Given the description of an element on the screen output the (x, y) to click on. 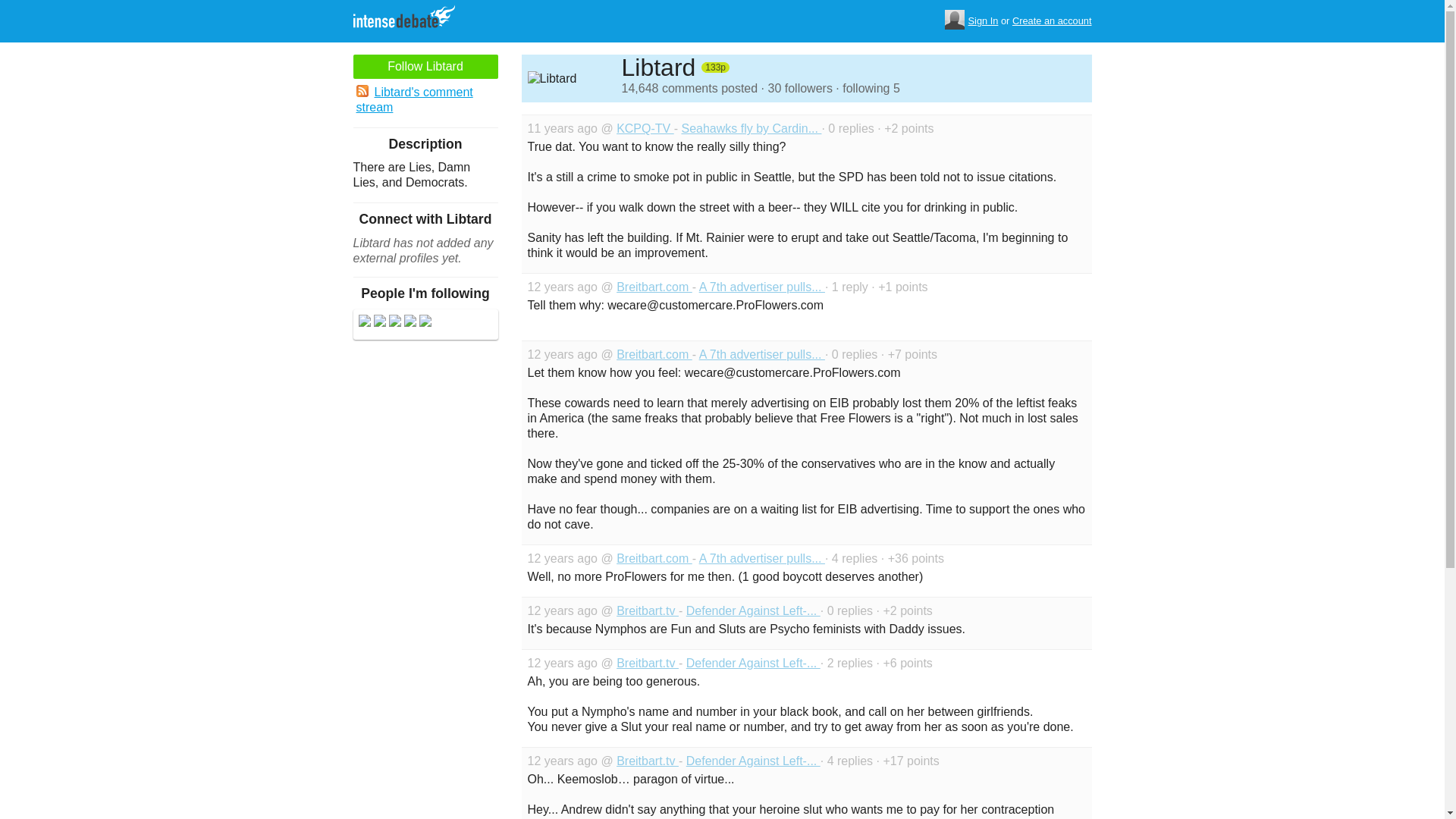
Breitbart.tv (646, 760)
A 7th advertiser pulls... (761, 558)
Defender Against Left-... (753, 760)
Breitbart.tv (646, 662)
Defender Against Left-... (753, 662)
Defender Against Left-... (753, 610)
Breitbart.com (654, 286)
Breitbart.com (654, 354)
Breitbart.com (654, 558)
